Given the description of an element on the screen output the (x, y) to click on. 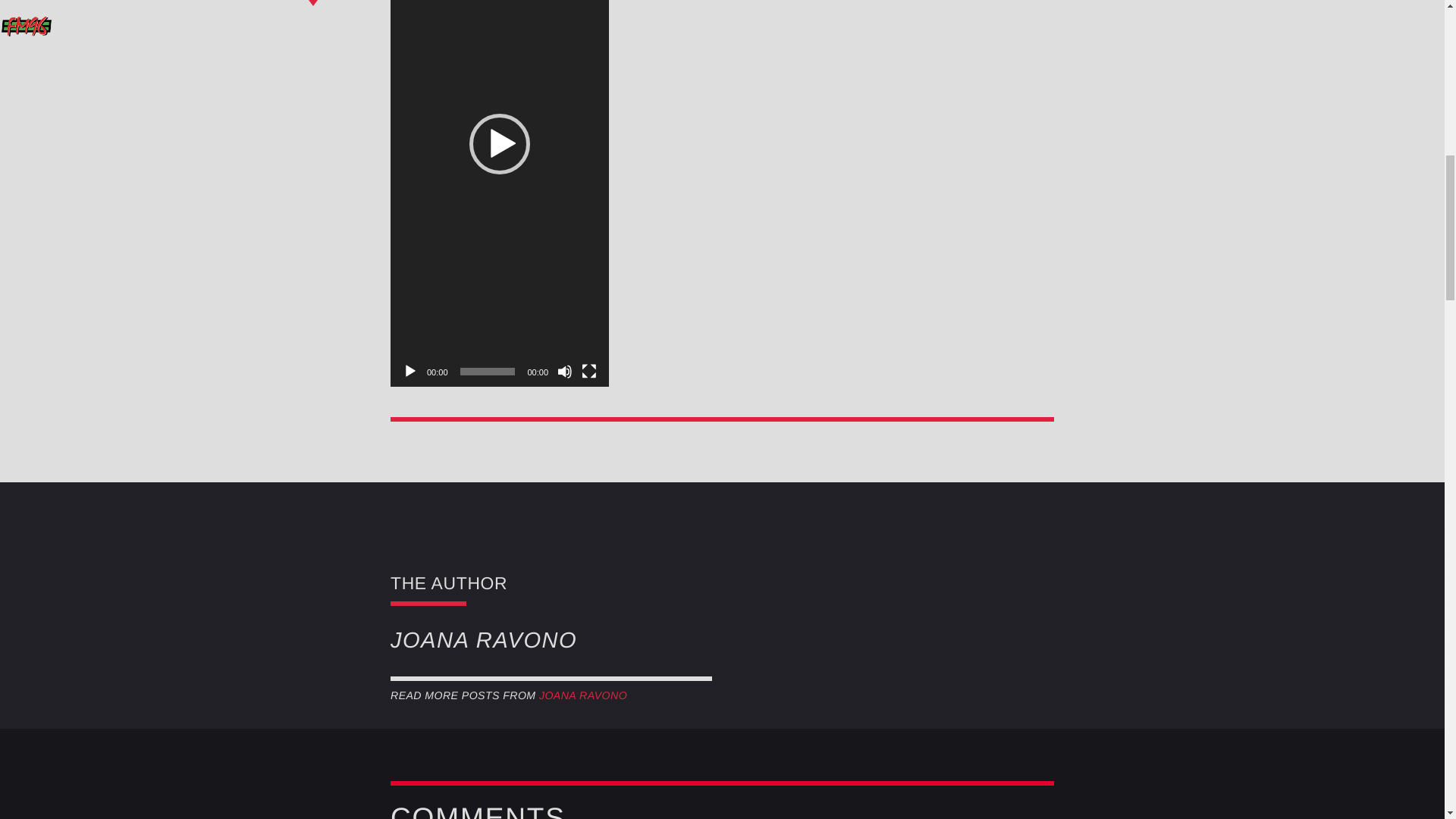
Fullscreen (588, 371)
Mute (564, 371)
Play (410, 371)
Posts by Joana Ravono (582, 695)
